Given the description of an element on the screen output the (x, y) to click on. 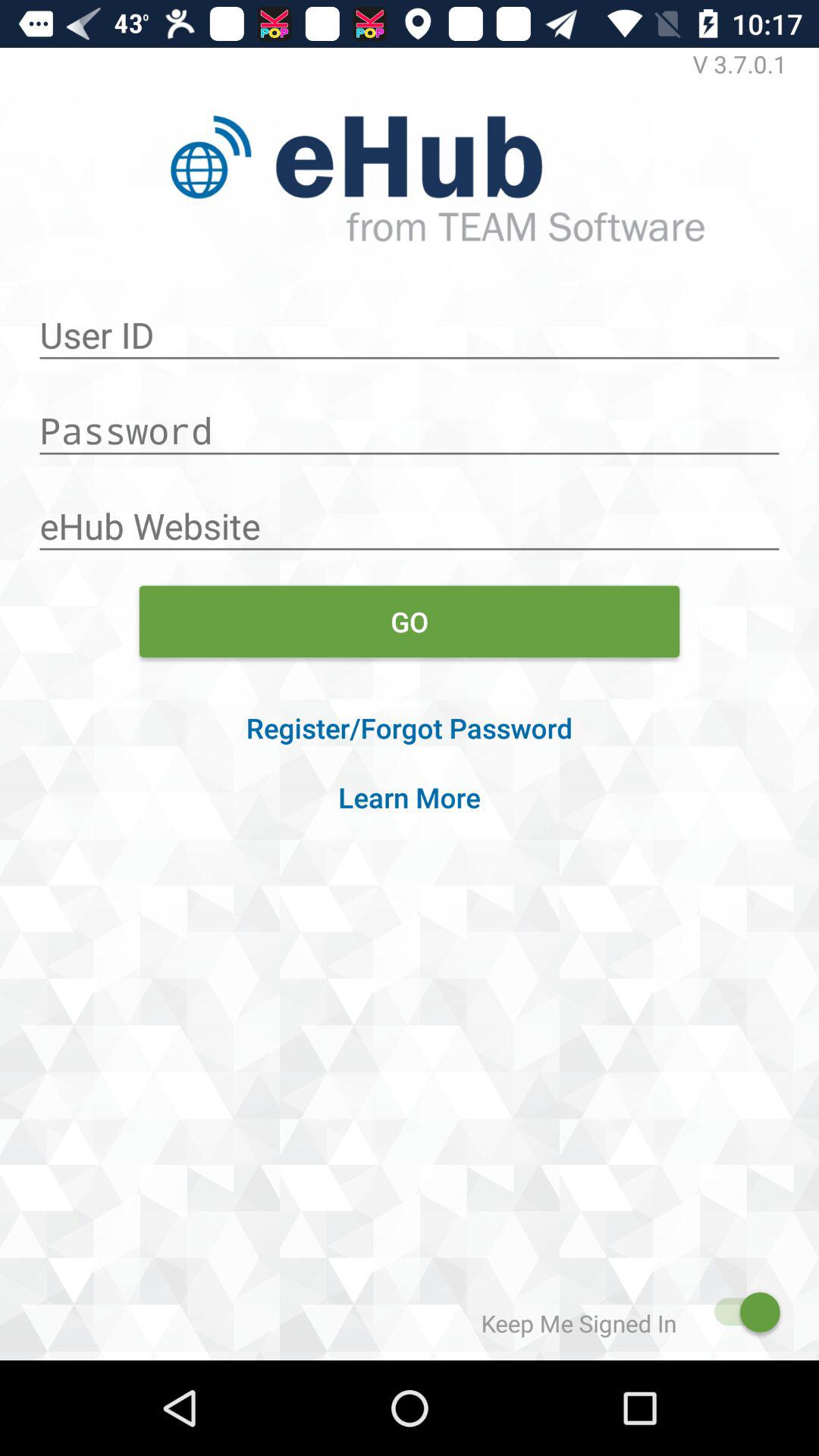
user id (409, 326)
